Given the description of an element on the screen output the (x, y) to click on. 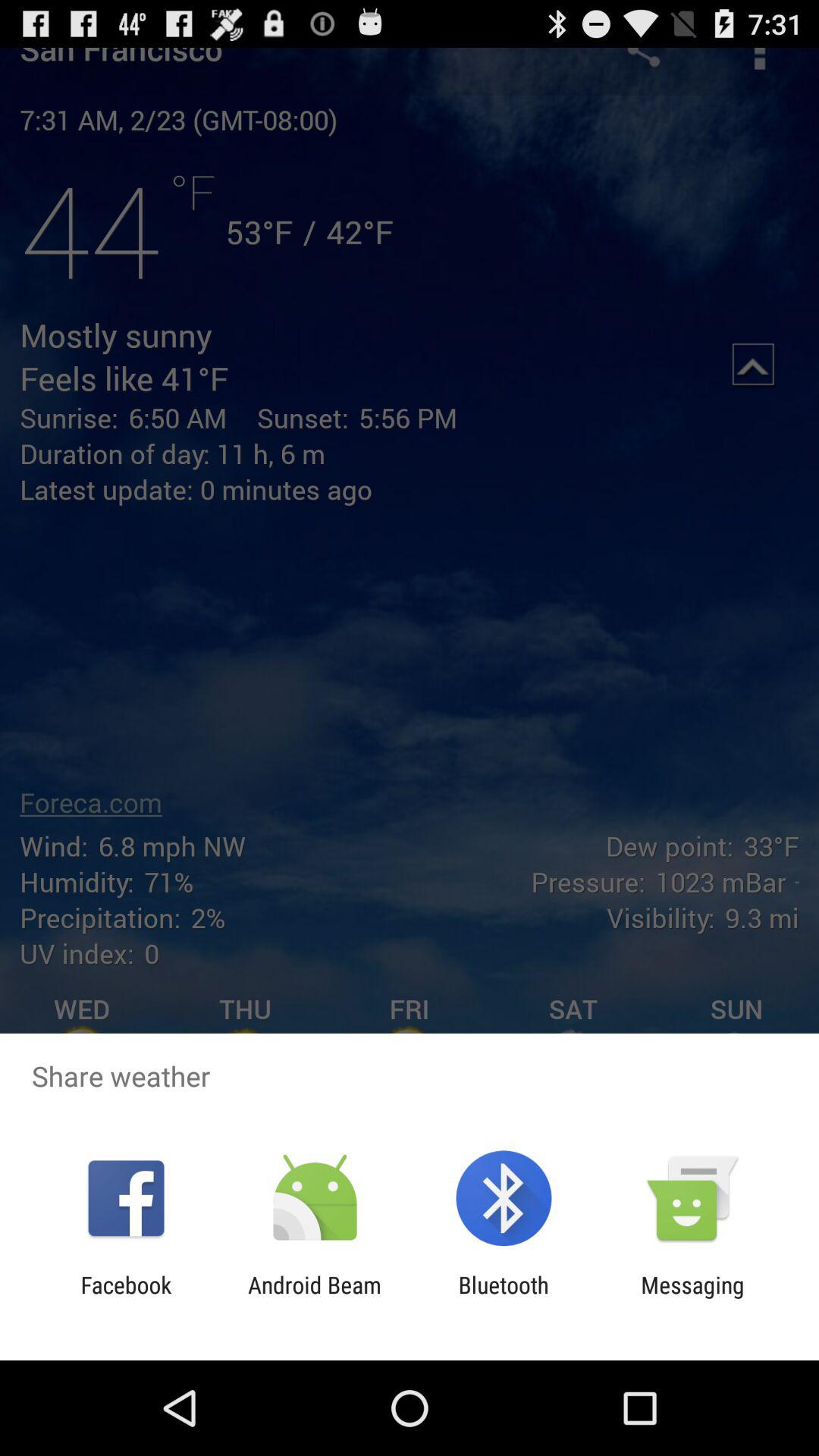
jump to the messaging item (692, 1298)
